Given the description of an element on the screen output the (x, y) to click on. 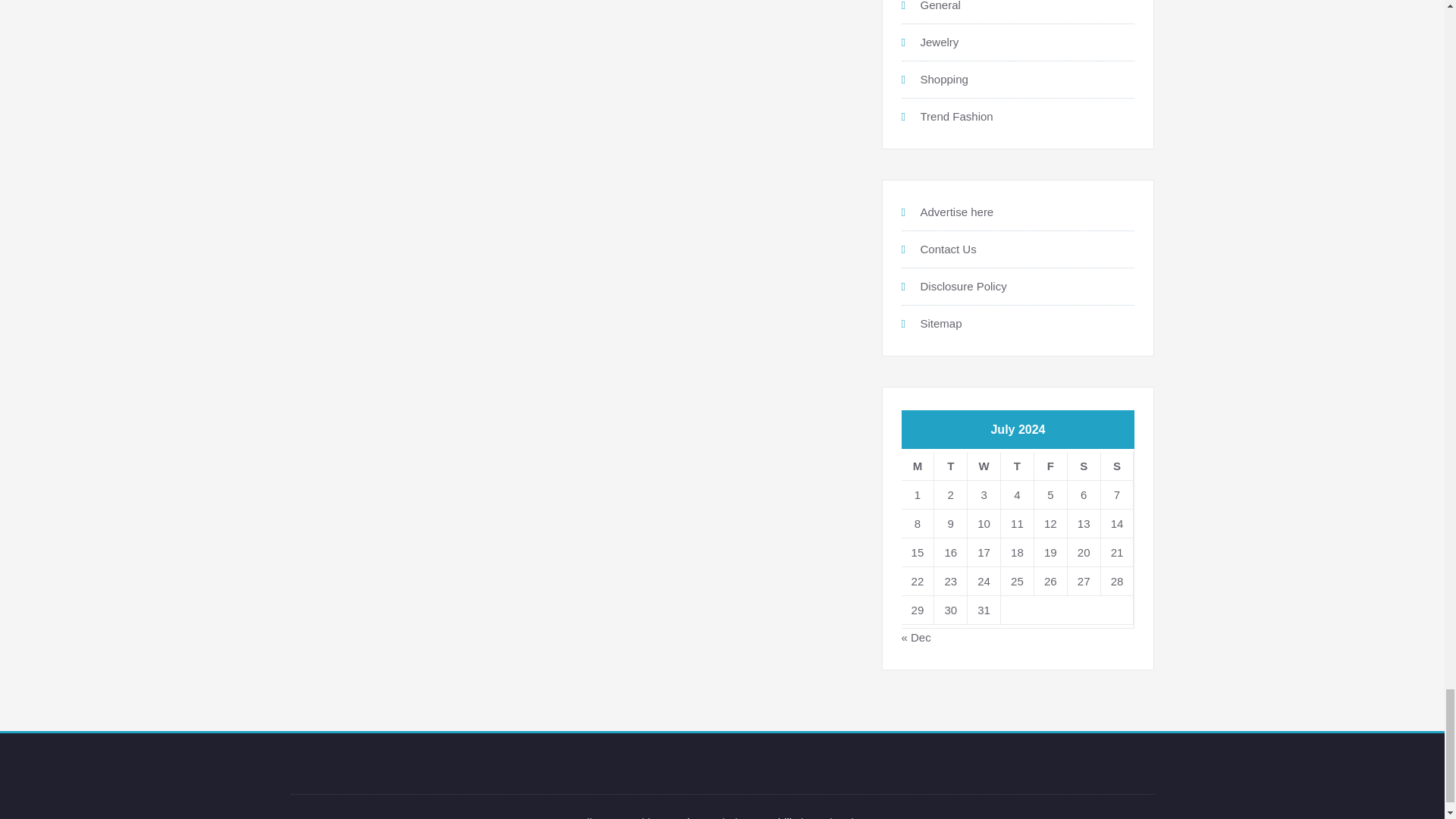
Tuesday (951, 466)
Wednesday (984, 466)
Saturday (1083, 466)
Monday (917, 466)
Thursday (1017, 466)
Sunday (1117, 466)
Friday (1050, 466)
